Given the description of an element on the screen output the (x, y) to click on. 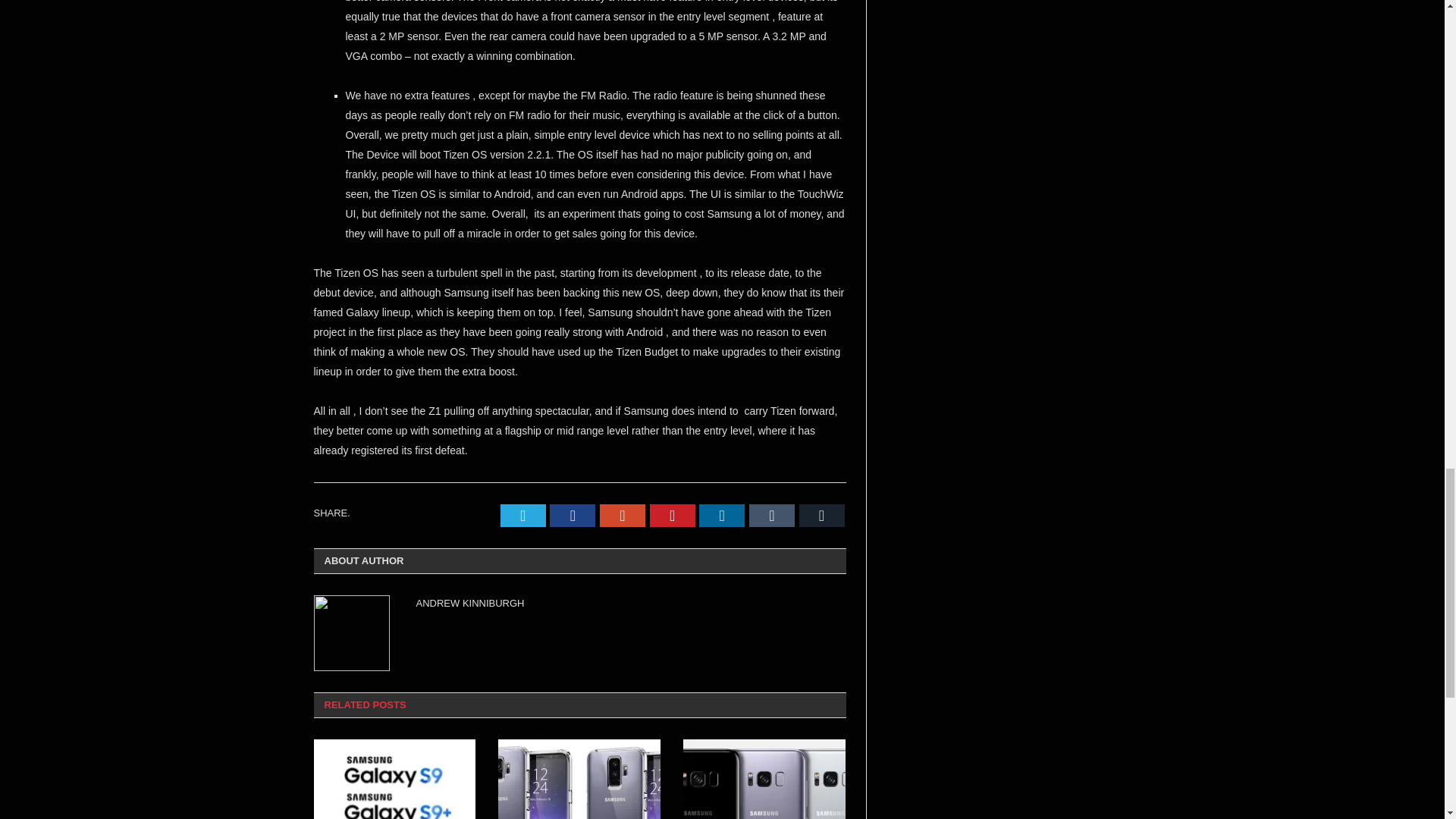
Twitter (523, 515)
Facebook (572, 515)
